Given the description of an element on the screen output the (x, y) to click on. 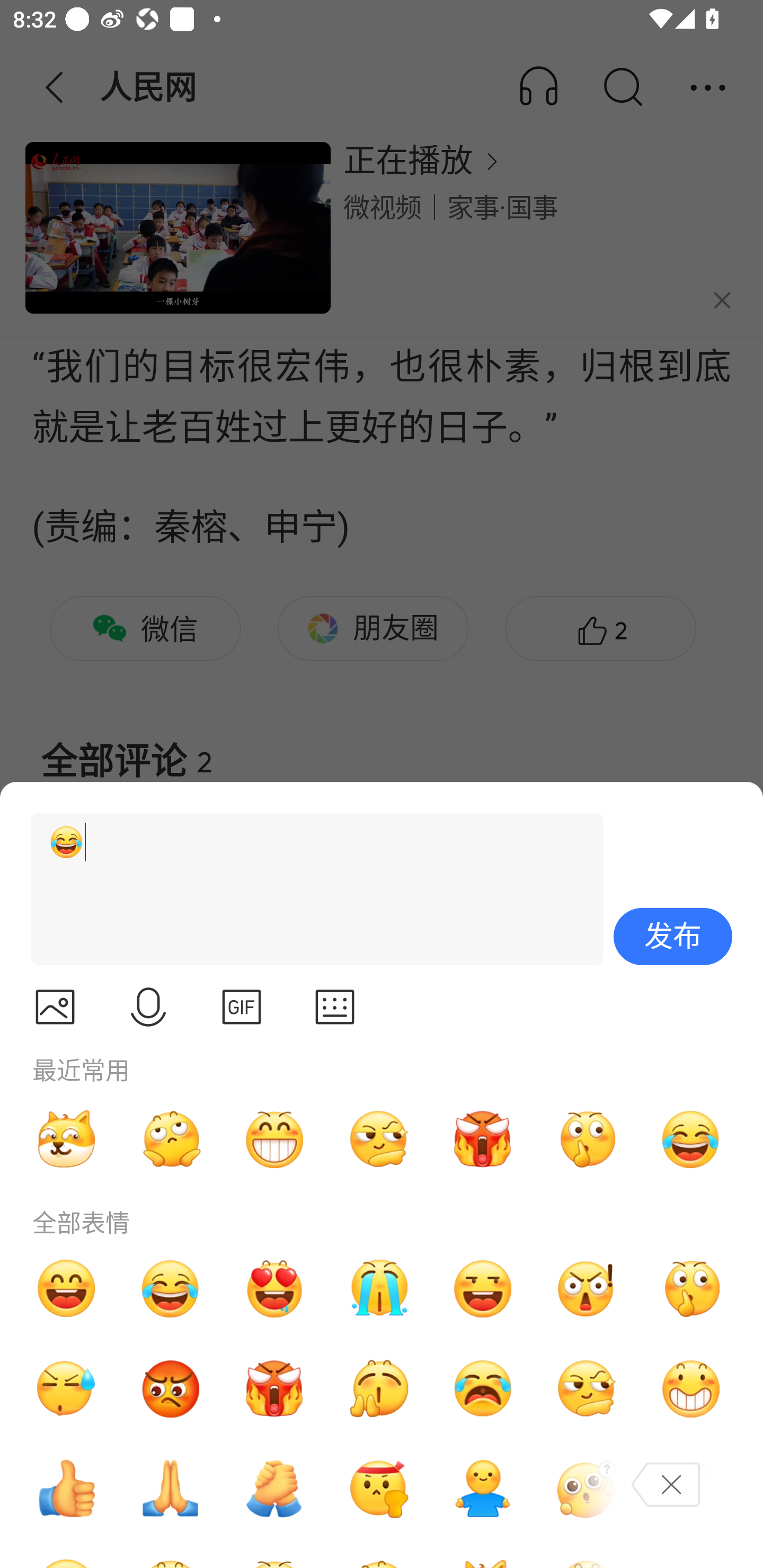
[哭笑] (308, 888)
发布 (672, 936)
 (54, 1007)
 (148, 1007)
 (241, 1007)
 (334, 1007)
奸笑 (66, 1138)
无聊 (170, 1138)
呲牙 (274, 1138)
机智 (378, 1138)
愤怒 (482, 1138)
嘘 (586, 1138)
哭笑 (690, 1138)
哈哈 (66, 1288)
哭笑 (170, 1288)
喜欢 (274, 1288)
哭 (378, 1288)
嘿嘿 (482, 1288)
吃惊 (586, 1288)
嘘 (690, 1288)
汗 (66, 1389)
生气 (170, 1389)
愤怒 (274, 1389)
喝彩 (378, 1389)
抓狂 (482, 1389)
机智 (586, 1389)
坏笑 (690, 1389)
点赞 (66, 1488)
缅怀 (170, 1488)
加油 (274, 1488)
奋斗 (378, 1488)
抱抱 (482, 1488)
疑问 (586, 1488)
捂脸 (690, 1488)
